Given the description of an element on the screen output the (x, y) to click on. 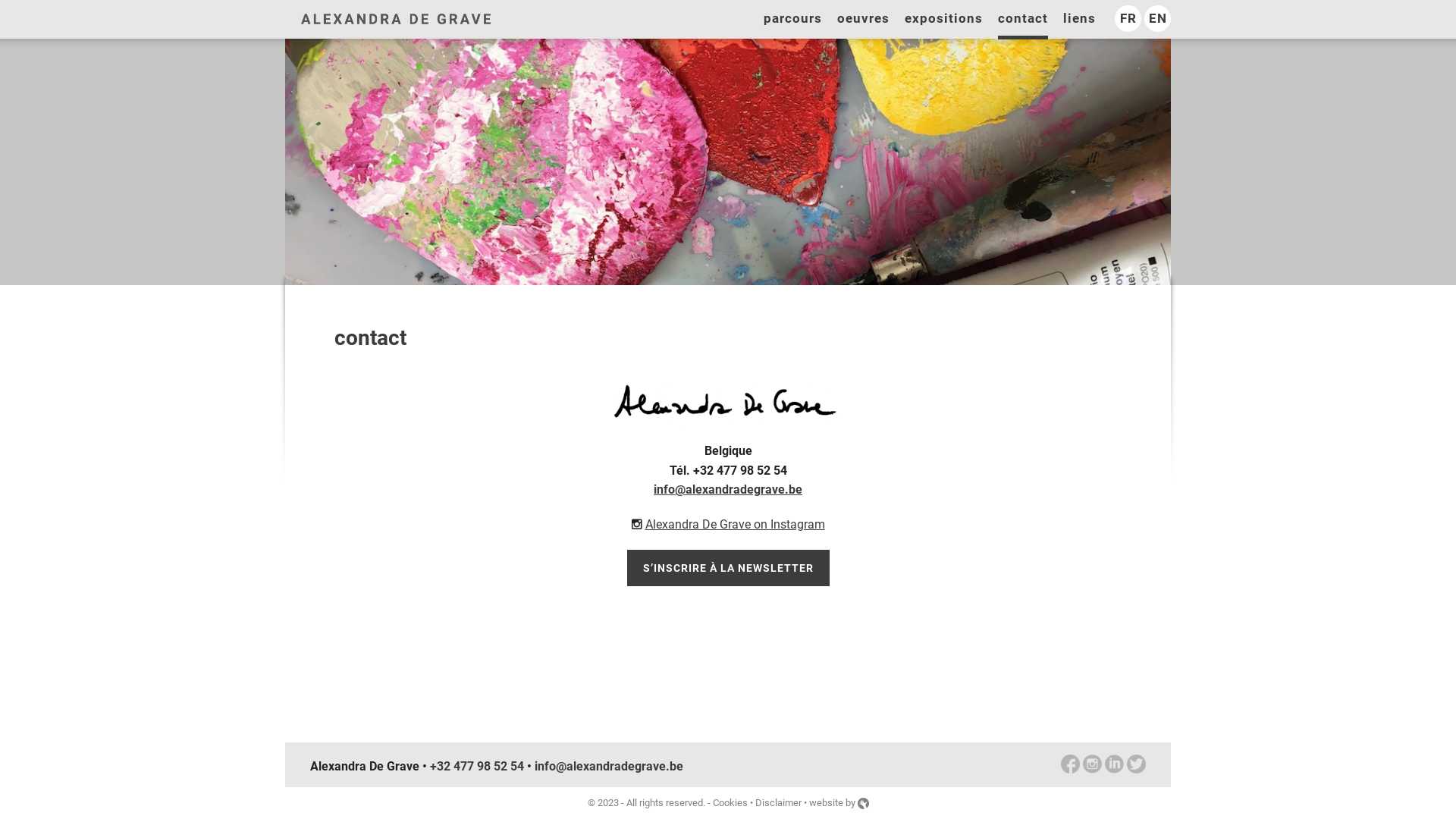
contact Element type: text (1022, 19)
Alexandra De Grave Element type: hover (395, 17)
Disclaimer Element type: text (778, 802)
liens Element type: text (1079, 19)
Contact Element type: hover (727, 161)
expositions Element type: text (943, 19)
+32 477 98 52 54 Element type: text (476, 766)
parcours Element type: text (792, 19)
info@alexandradegrave.be Element type: text (608, 766)
EN Element type: text (1157, 18)
FR Element type: text (1127, 18)
oeuvres Element type: text (863, 19)
info@alexandradegrave.be Element type: text (727, 489)
Cookies Element type: text (729, 802)
Alexandra De Grave on Instagram Element type: text (734, 524)
